Given the description of an element on the screen output the (x, y) to click on. 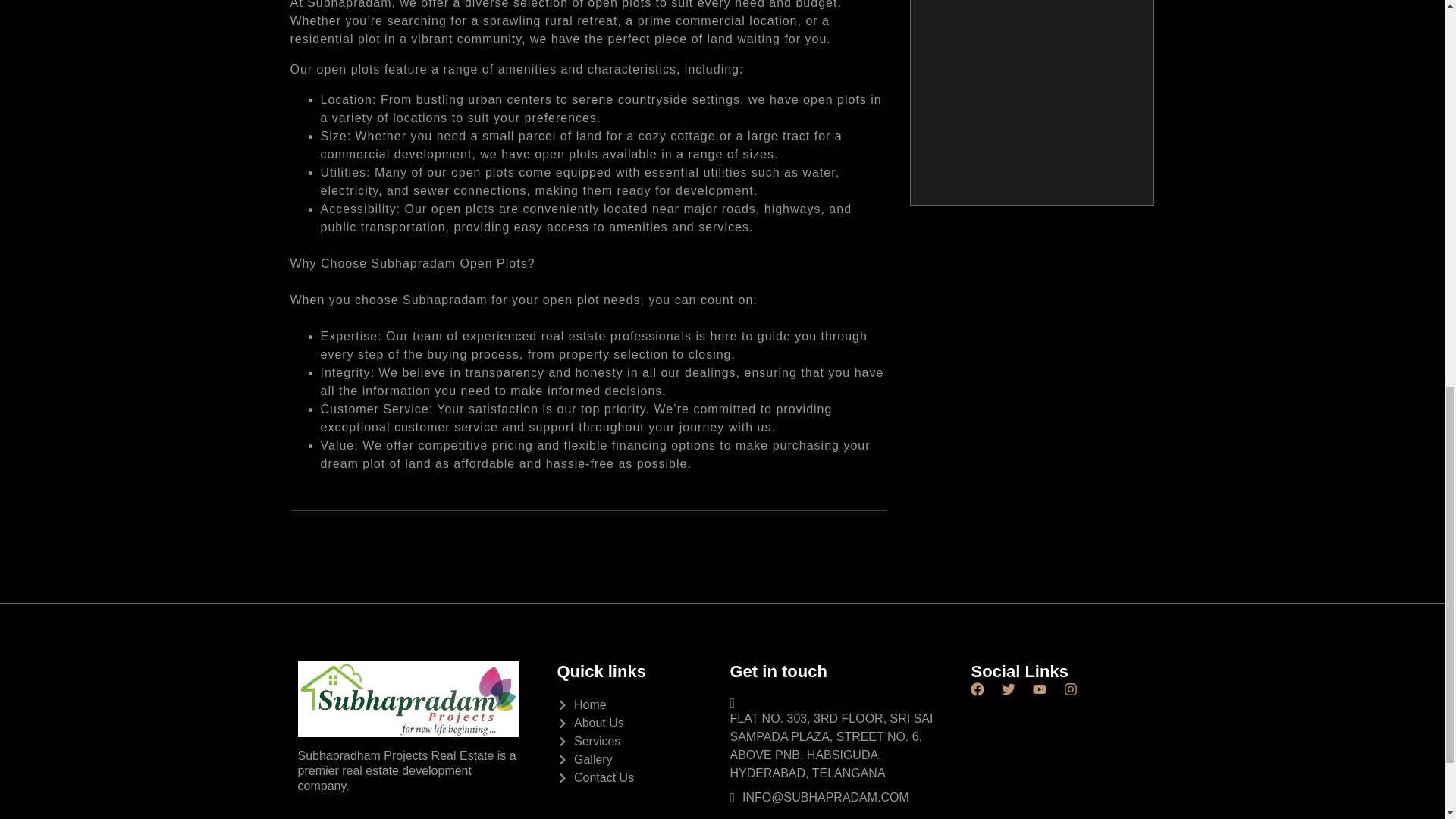
Social Links (1059, 671)
Get in touch (842, 671)
Quick links (635, 734)
